Given the description of an element on the screen output the (x, y) to click on. 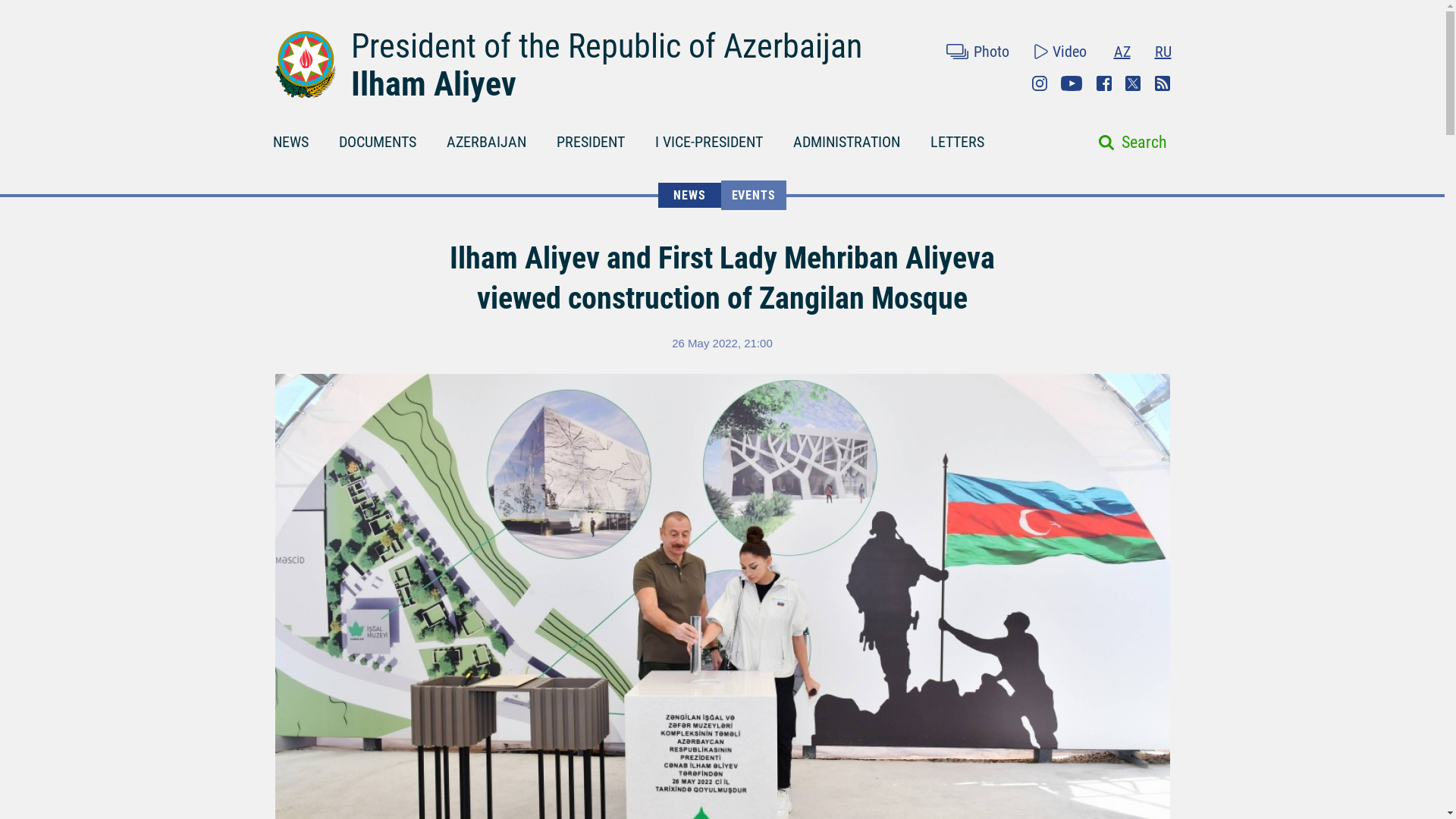
Ilham Aliyev (432, 84)
President of the Republic of Azerbaijan (605, 45)
Rss (1161, 83)
RU (1162, 51)
Video (1059, 51)
Twitter (1132, 83)
Facebook (1104, 83)
Photo (977, 51)
AZ (1121, 51)
Instagram (1038, 83)
Youtube (1071, 83)
